Given the description of an element on the screen output the (x, y) to click on. 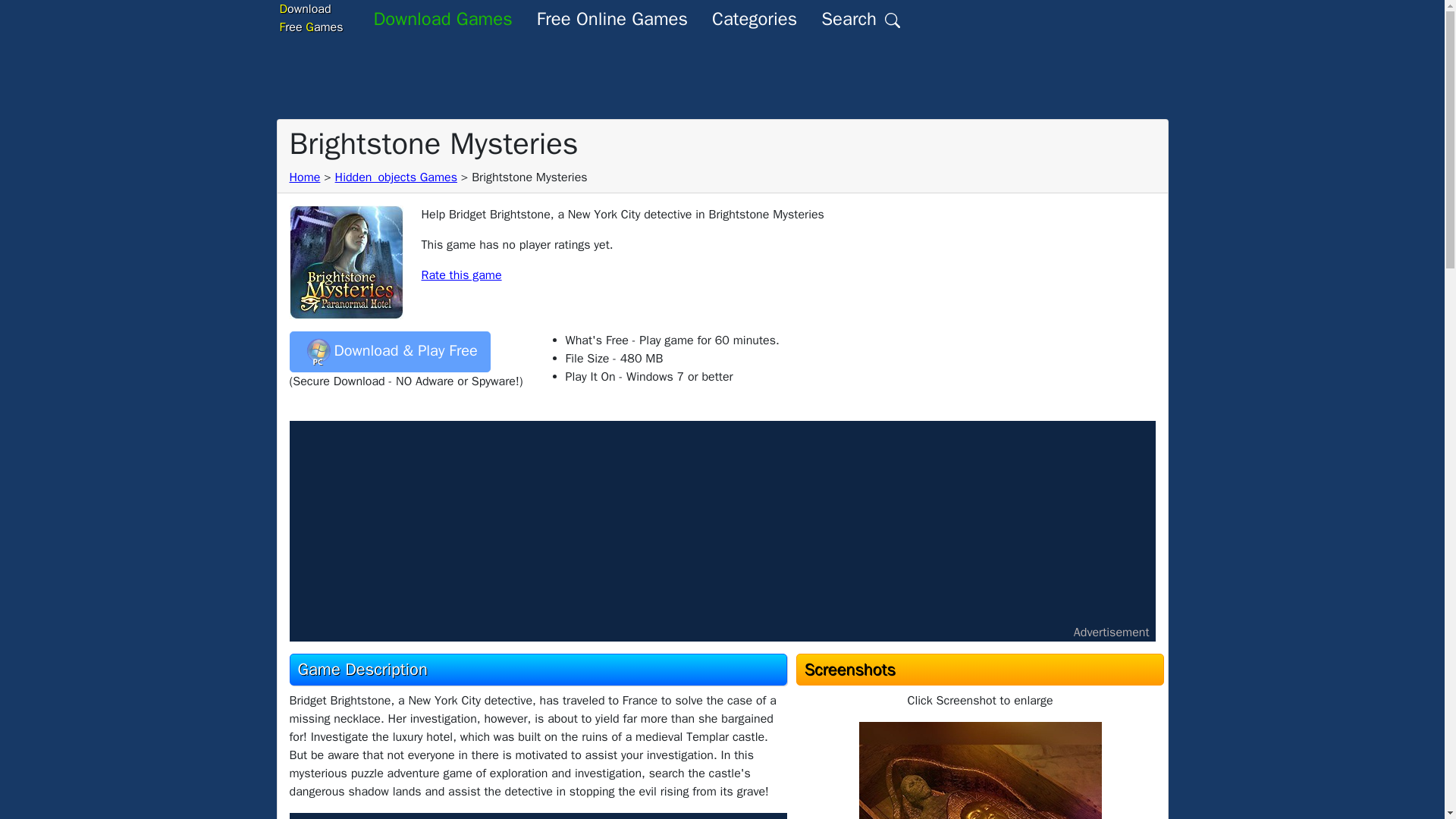
Search (860, 18)
Download Games (442, 18)
Free Online Games (612, 18)
Categories (310, 18)
Home (754, 18)
Brightstone Mysteries - Screen 1 (304, 177)
Brightstone Mysteries (980, 770)
